Given the description of an element on the screen output the (x, y) to click on. 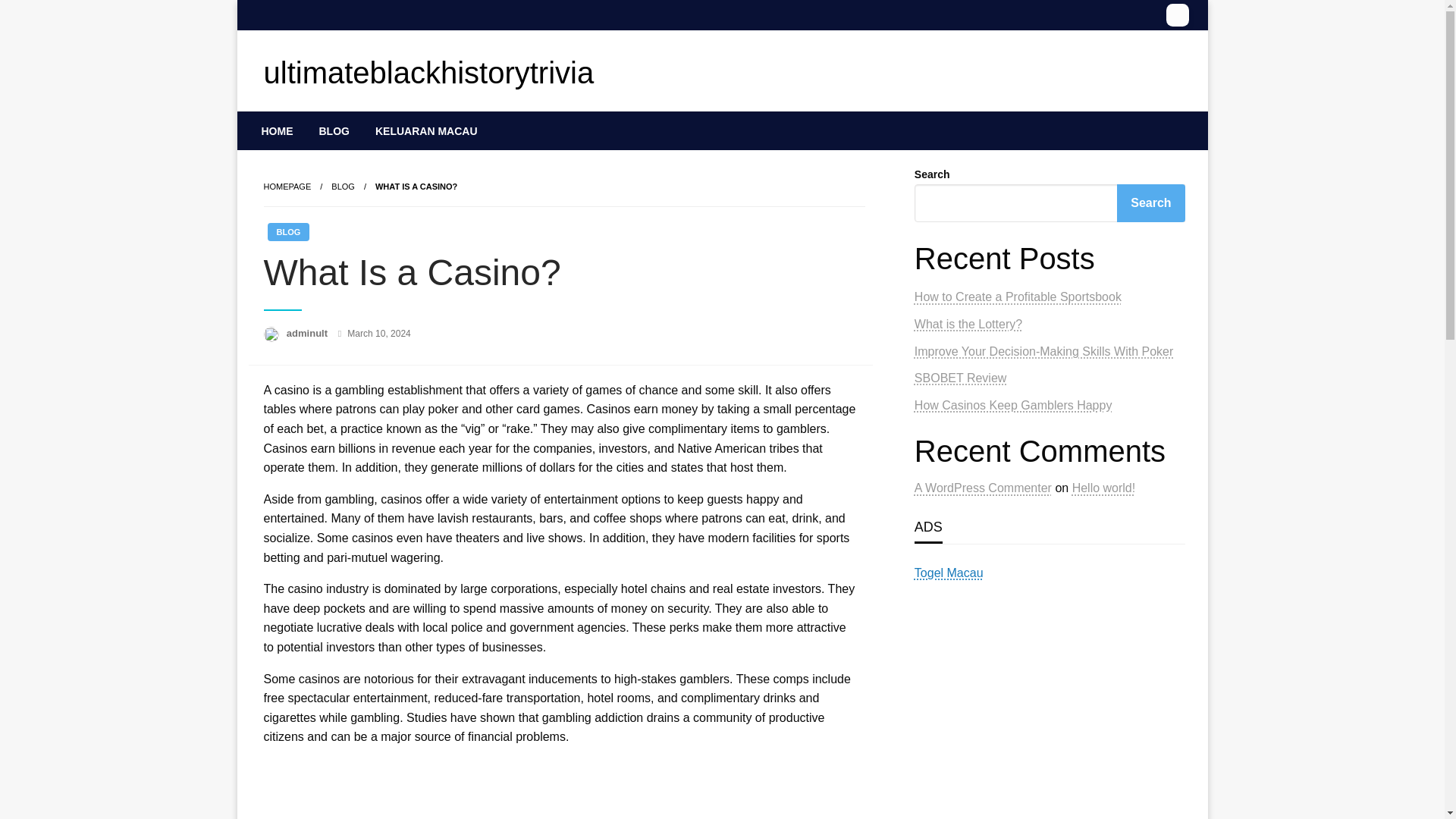
KELUARAN MACAU (426, 130)
A WordPress Commenter (982, 487)
Search (1150, 202)
HOME (276, 130)
How to Create a Profitable Sportsbook (1017, 296)
ultimateblackhistorytrivia (428, 72)
adminult (308, 333)
HOMEPAGE (287, 185)
What Is a Casino? (416, 185)
Blog (343, 185)
Togel Macau (949, 572)
BLOG (287, 231)
Hello world! (1103, 487)
SBOBET Review (960, 377)
Homepage (287, 185)
